Given the description of an element on the screen output the (x, y) to click on. 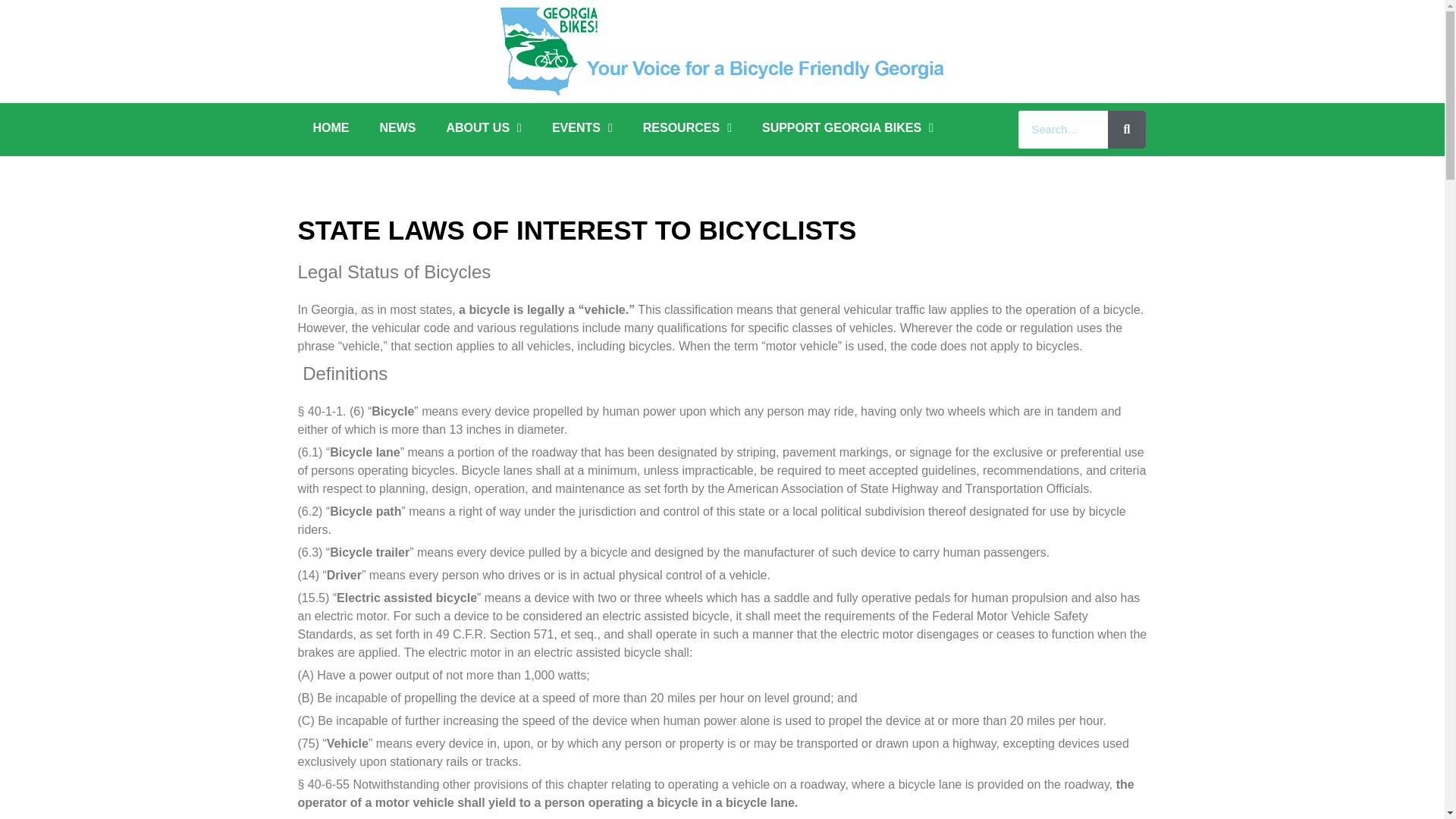
EVENTS (582, 127)
HOME (330, 127)
NEWS (397, 127)
ABOUT US (482, 127)
RESOURCES (686, 127)
